Given the description of an element on the screen output the (x, y) to click on. 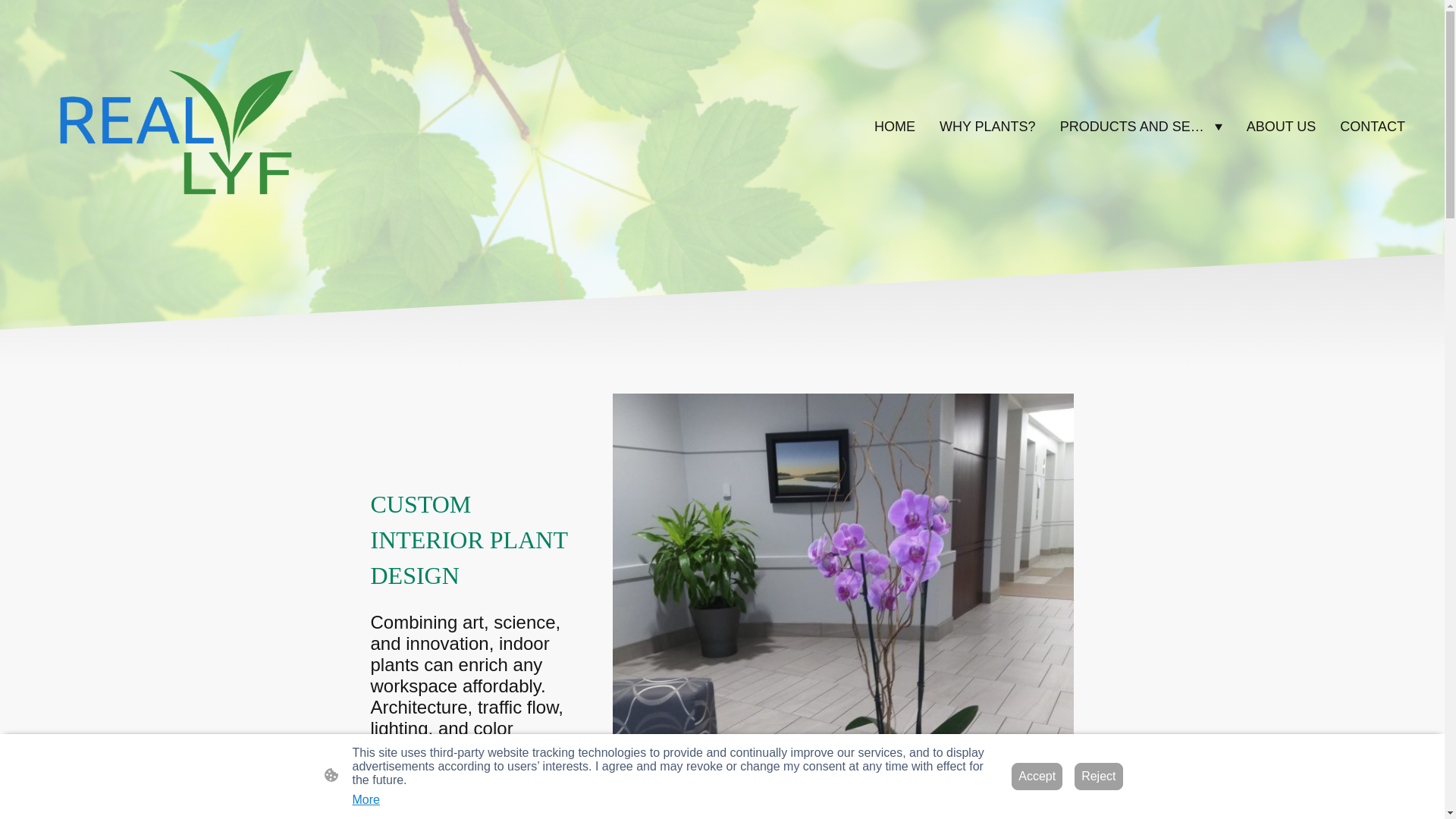
ABOUT US (1281, 126)
HOME (894, 126)
WHY PLANTS? (987, 126)
CONTACT (1372, 126)
PRODUCTS AND SERVICES (1141, 126)
